Given the description of an element on the screen output the (x, y) to click on. 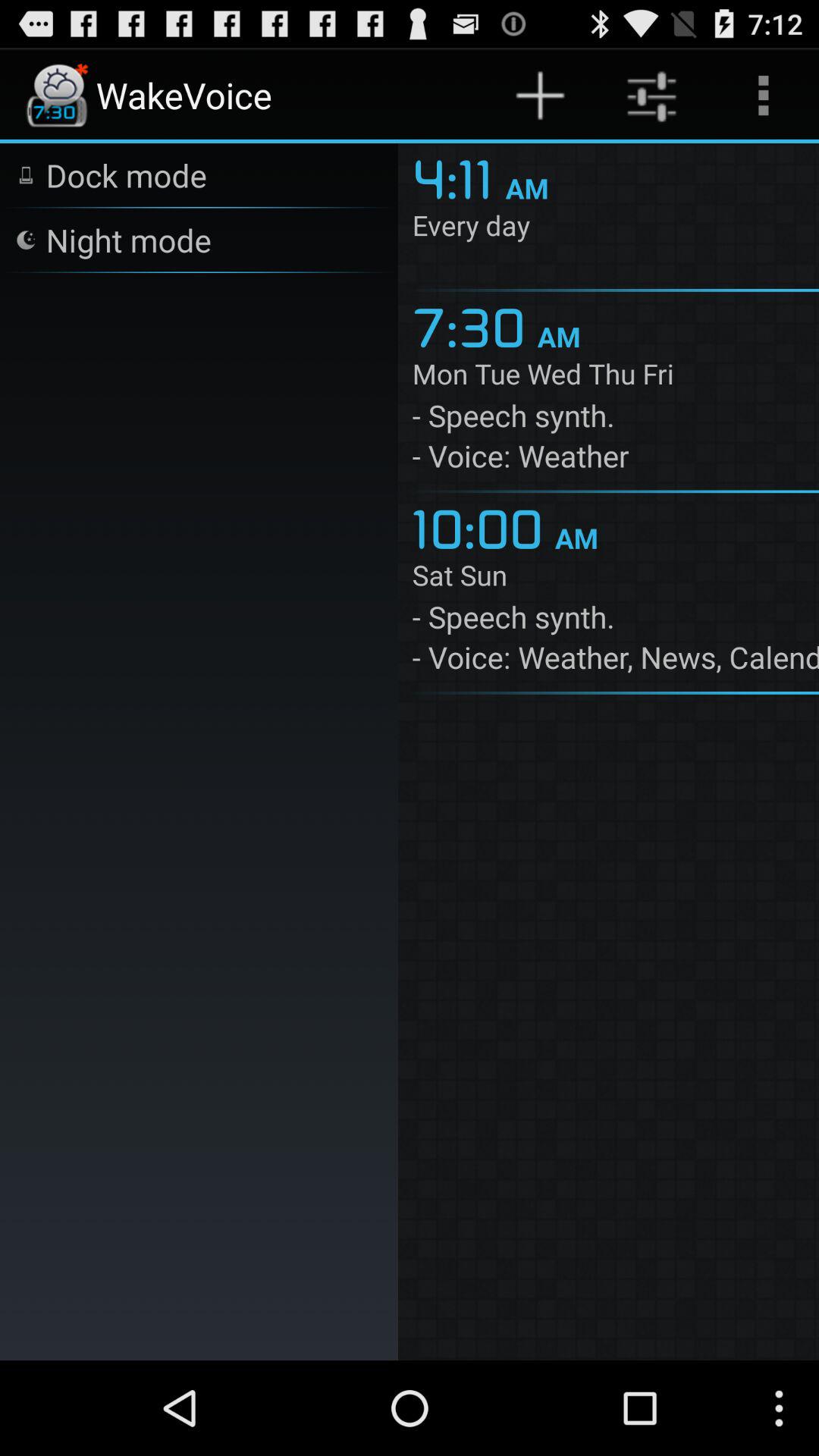
jump until 7:30 (474, 324)
